Given the description of an element on the screen output the (x, y) to click on. 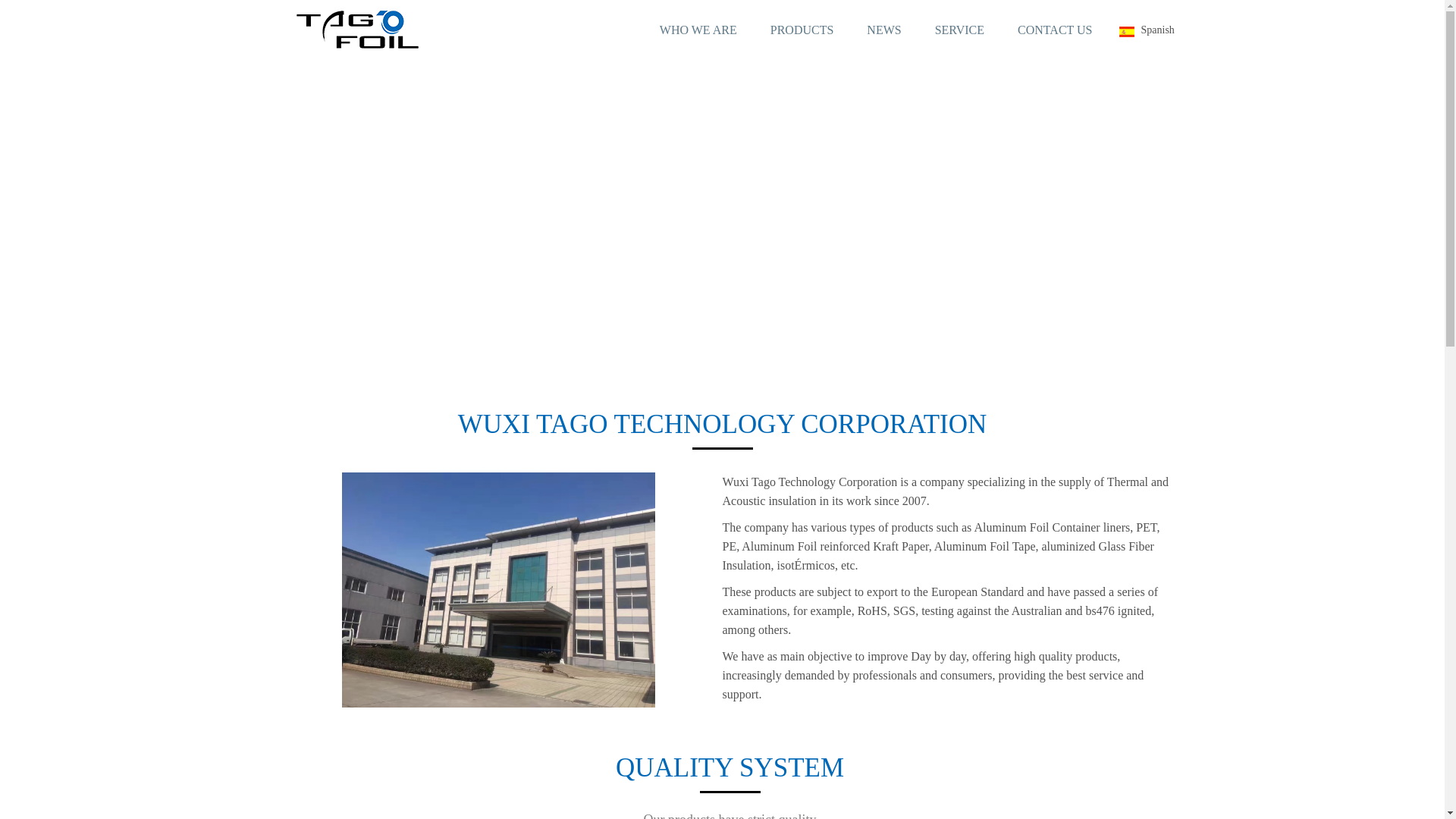
SERVICE (959, 30)
WHO WE ARE (698, 30)
NEWS (883, 30)
PRODUCTS (802, 30)
CONTACT US (1054, 30)
